Given the description of an element on the screen output the (x, y) to click on. 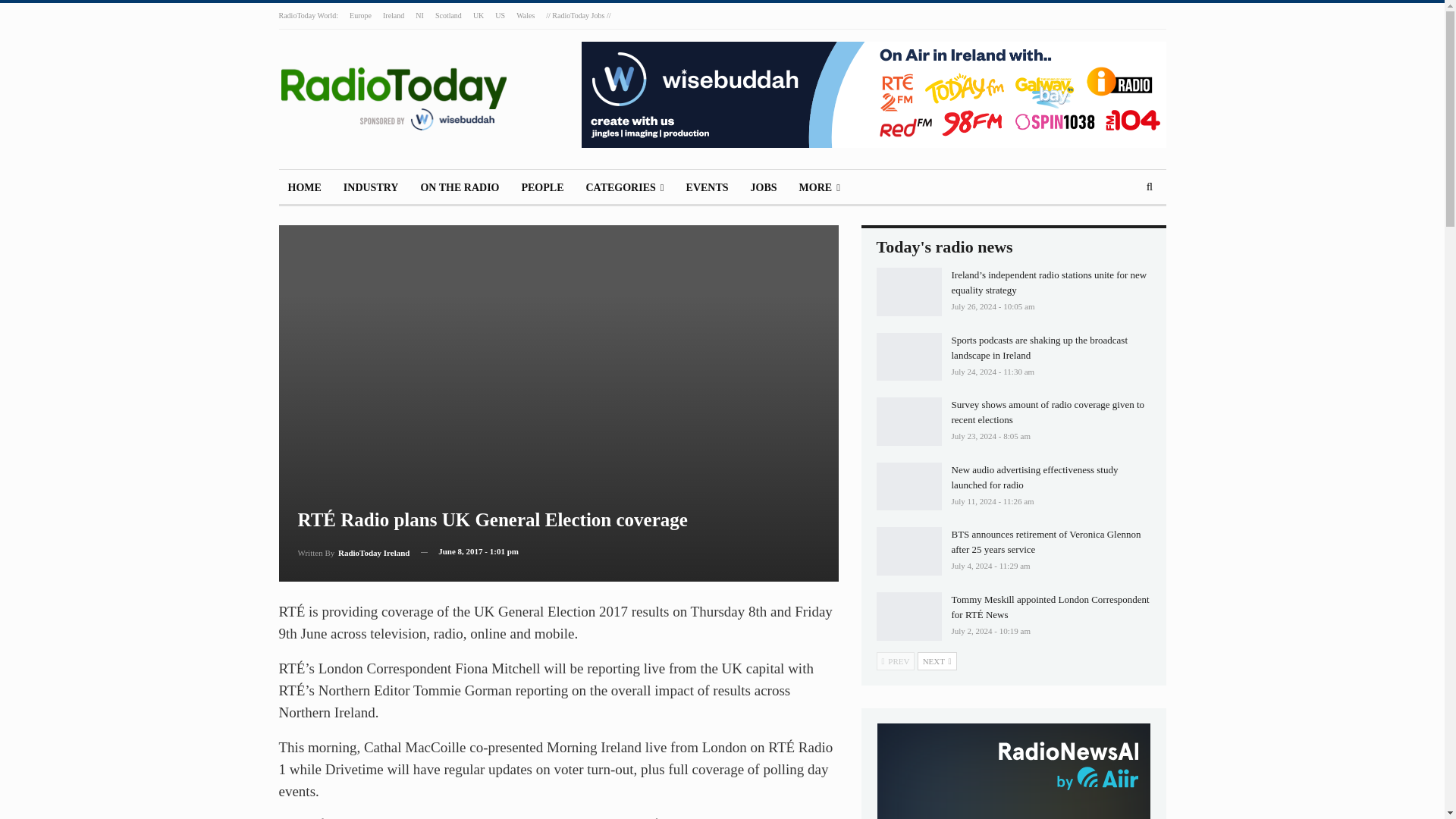
HOME (304, 187)
UK (478, 15)
EVENTS (707, 187)
MORE (819, 187)
US (500, 15)
ON THE RADIO (459, 187)
Written By RadioToday Ireland (353, 551)
JOBS (763, 187)
PEOPLE (542, 187)
NI (418, 15)
Scotland (448, 15)
Browse Author Articles (353, 551)
INDUSTRY (370, 187)
CATEGORIES (624, 187)
Europe (360, 15)
